Given the description of an element on the screen output the (x, y) to click on. 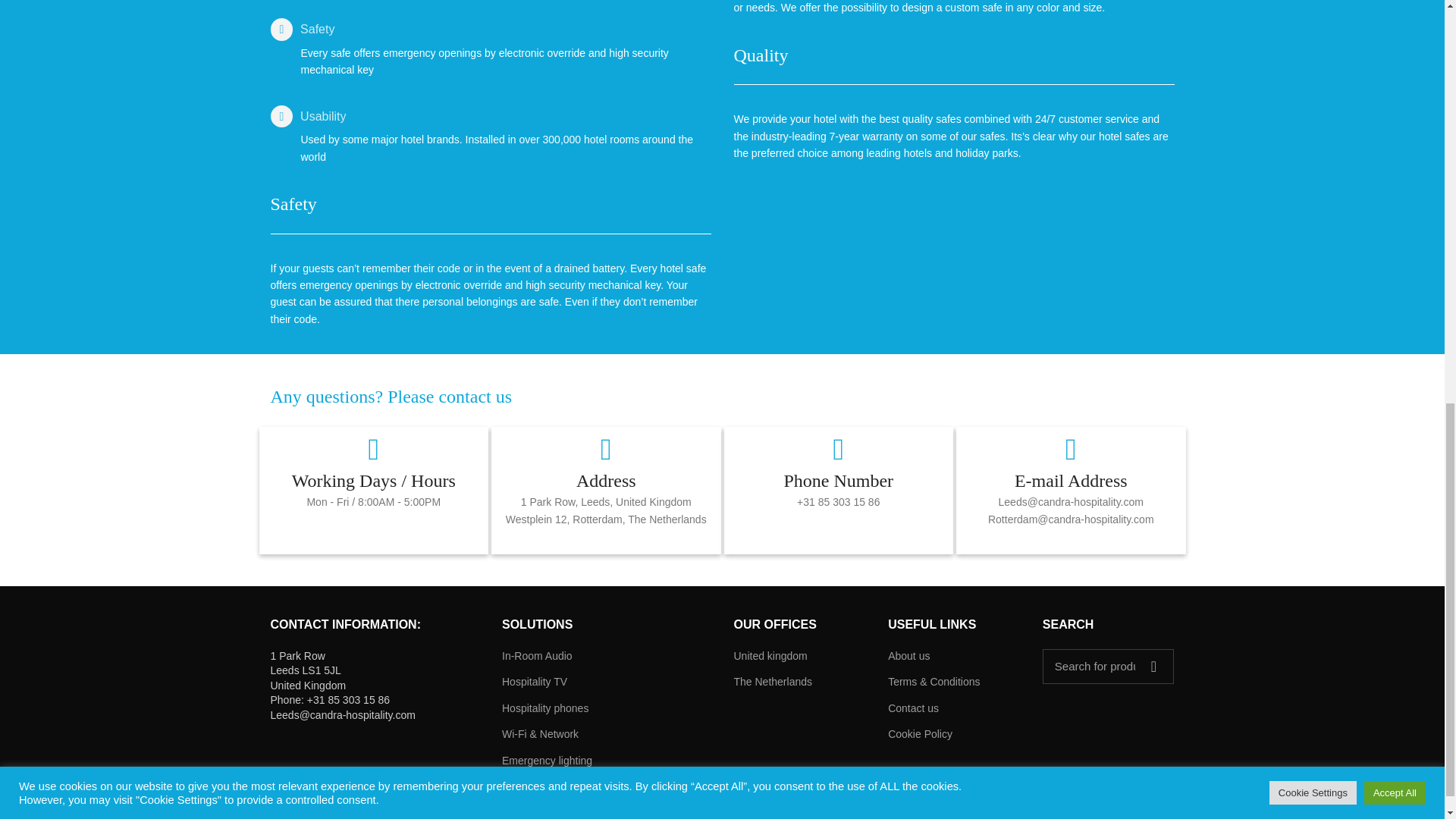
Contact Us (390, 396)
